Given the description of an element on the screen output the (x, y) to click on. 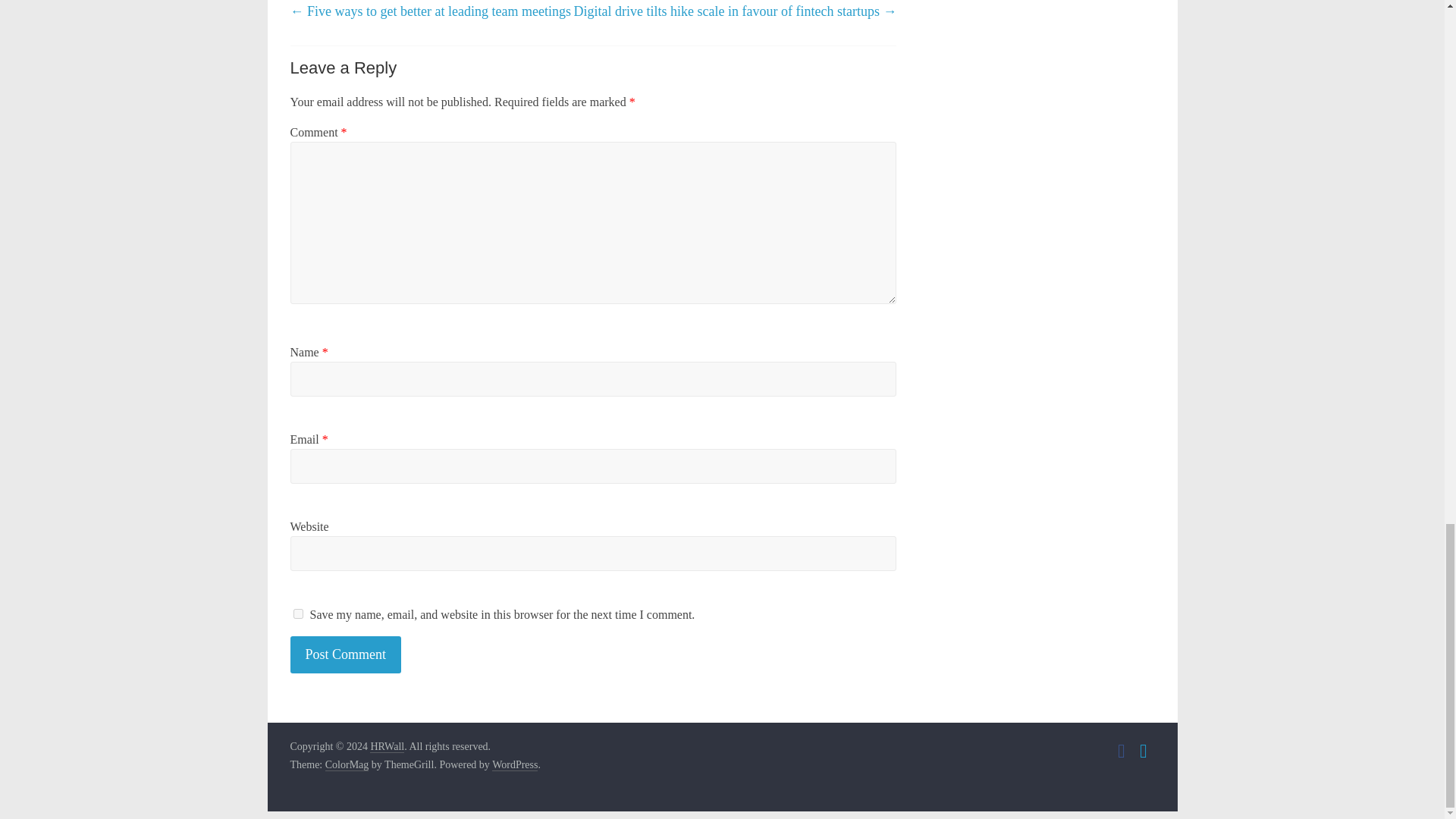
Post Comment (345, 654)
yes (297, 614)
